Given the description of an element on the screen output the (x, y) to click on. 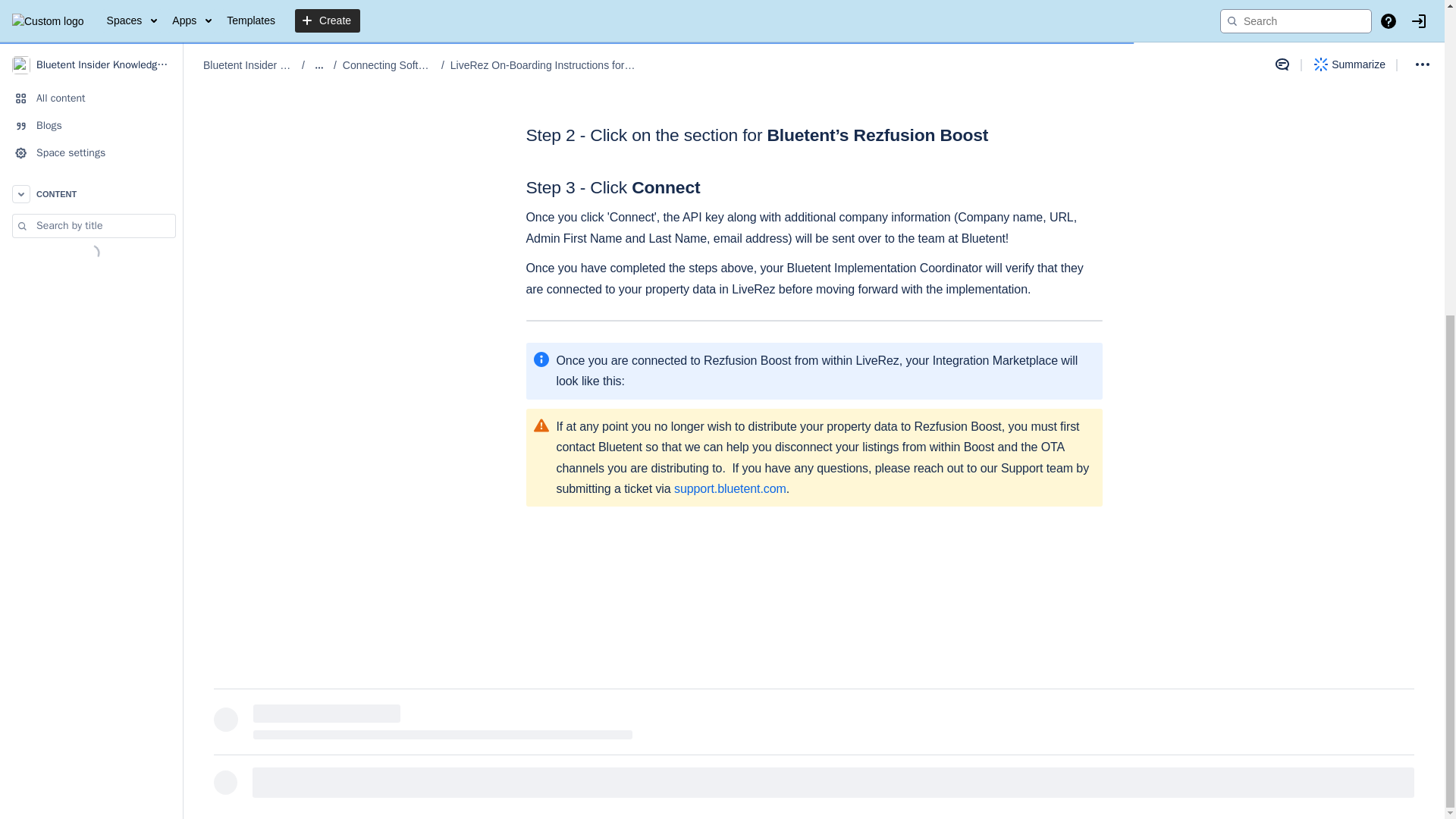
support.bluetent.com (730, 488)
